Given the description of an element on the screen output the (x, y) to click on. 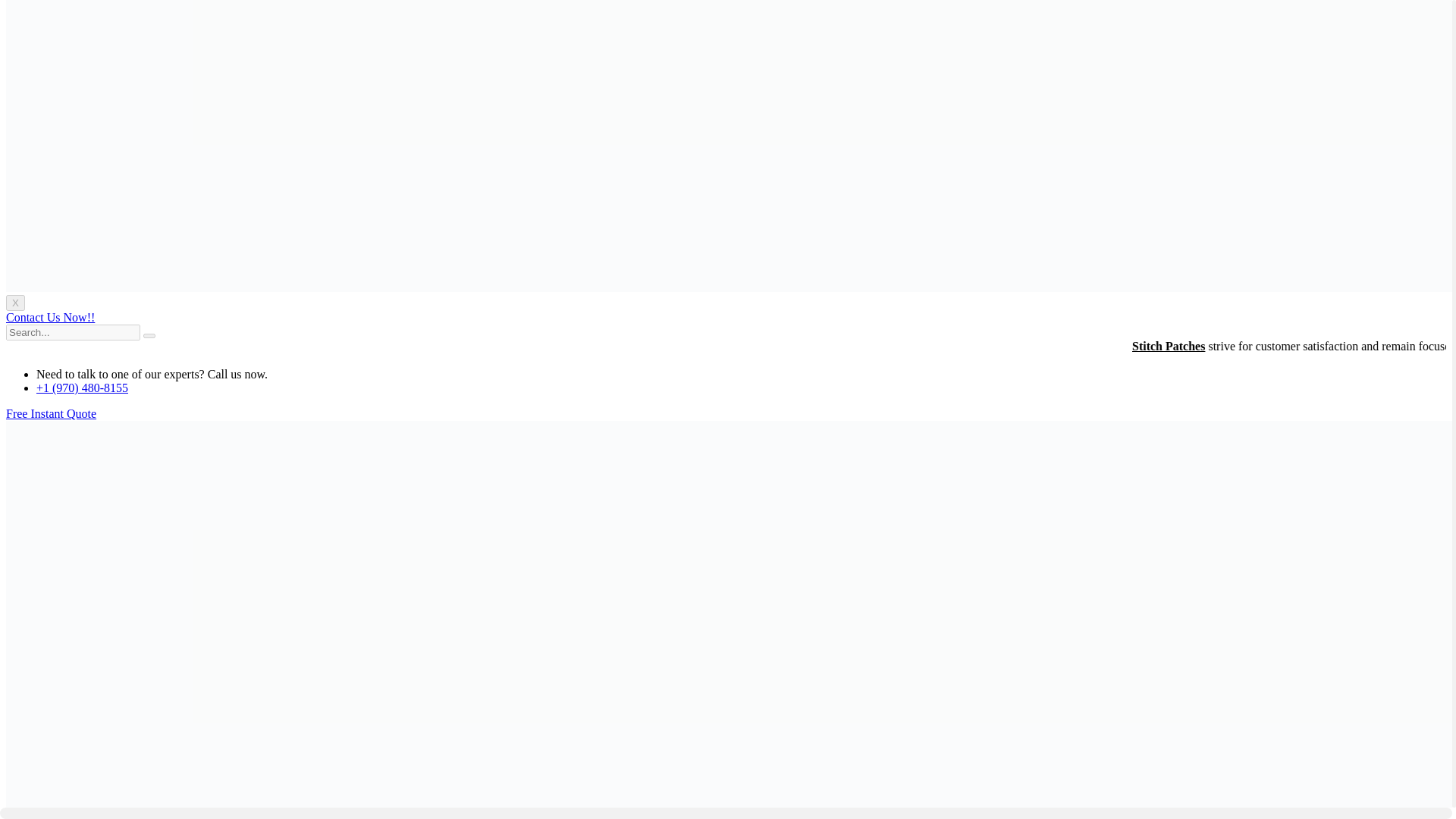
Free Instant Quote (50, 413)
X (14, 302)
Contact Us Now!! (49, 317)
